Given the description of an element on the screen output the (x, y) to click on. 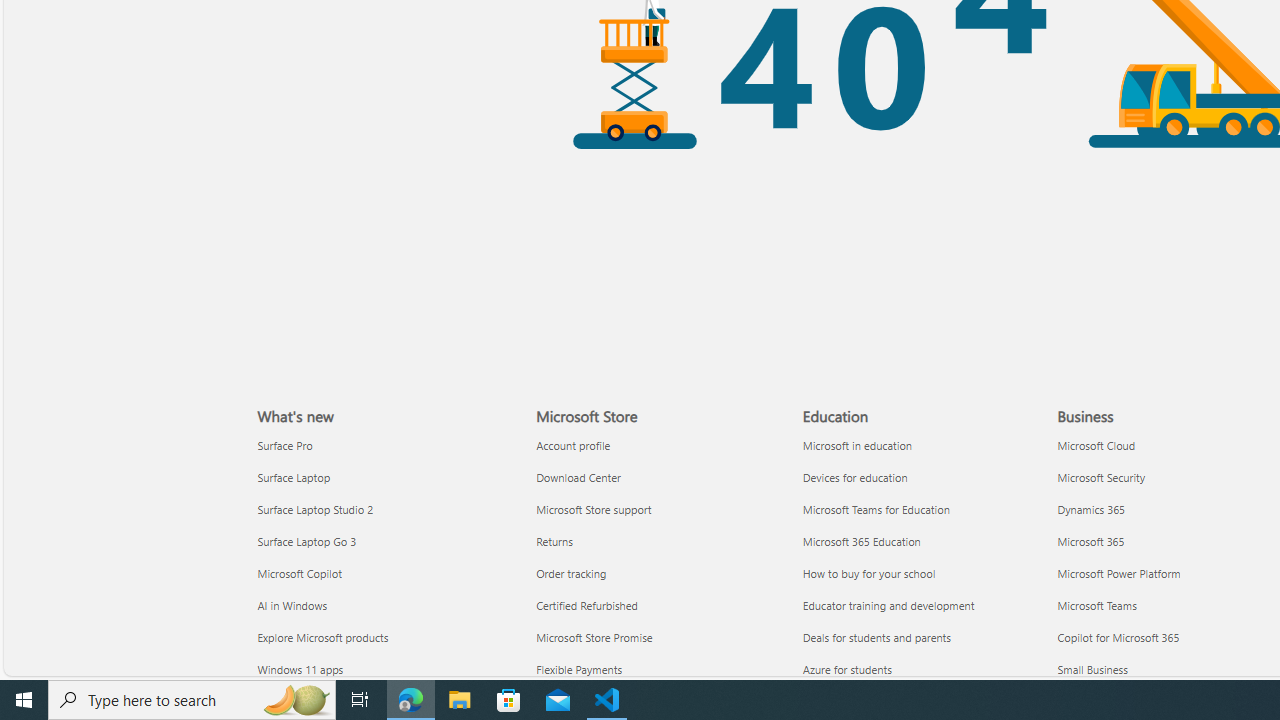
Windows 11 apps What's new (300, 668)
Download Center Microsoft Store (578, 476)
AI in Windows (385, 605)
Windows 11 apps (385, 669)
Flexible Payments Microsoft Store (579, 668)
Surface Laptop Studio 2 What's new (315, 508)
Educator training and development Education (888, 604)
Surface Laptop (385, 476)
Certified Refurbished (657, 605)
Surface Laptop Go 3 What's new (307, 540)
Microsoft Copilot What's new (299, 573)
How to buy for your school Education (868, 573)
Explore Microsoft products (385, 636)
Deals for students and parents (923, 636)
Certified Refurbished Microsoft Store (587, 604)
